Given the description of an element on the screen output the (x, y) to click on. 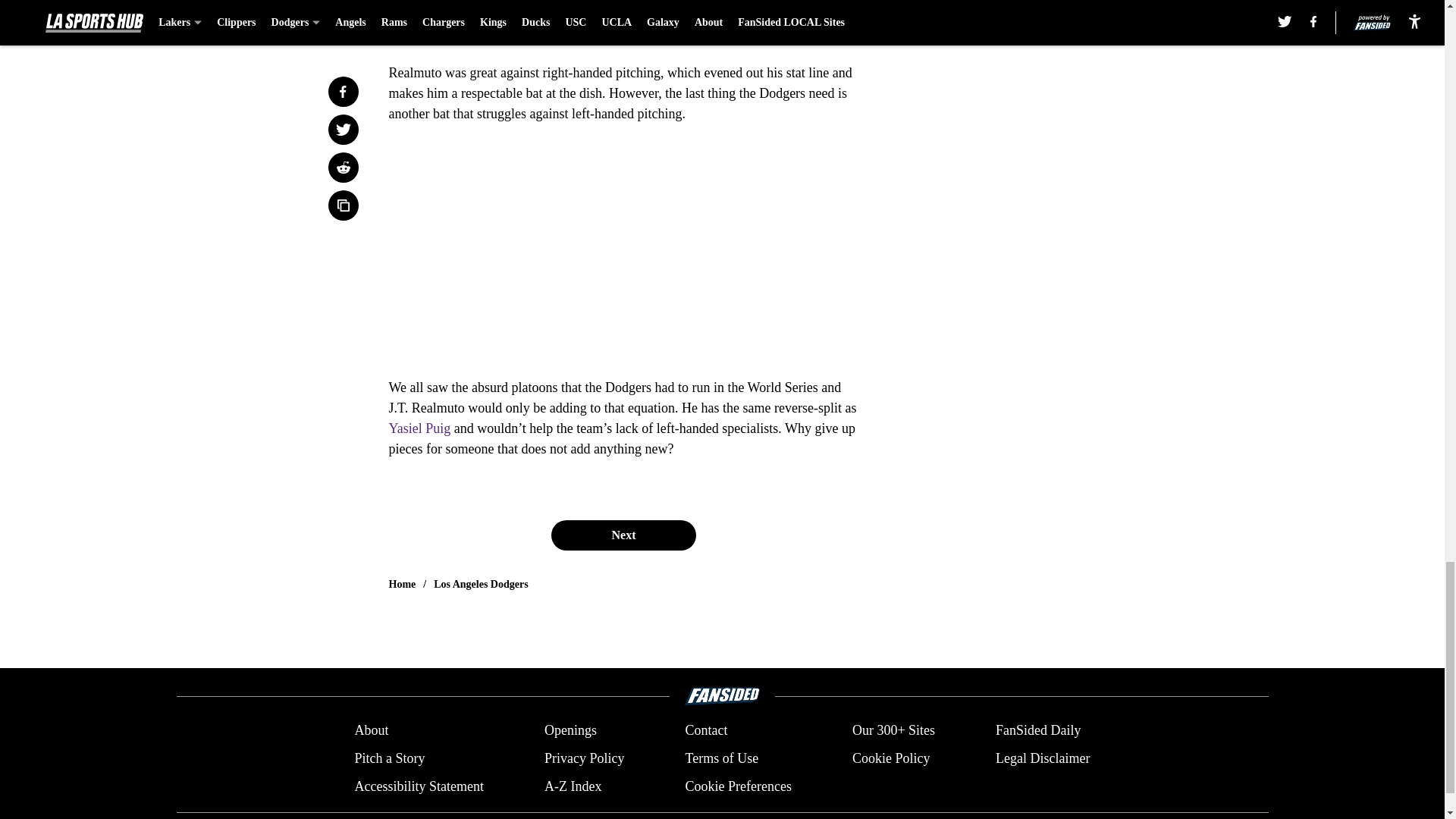
Yasiel Puig (418, 427)
Openings (570, 730)
Contact (705, 730)
Home (401, 584)
Los Angeles Dodgers (480, 584)
About (370, 730)
Next (622, 535)
